Given the description of an element on the screen output the (x, y) to click on. 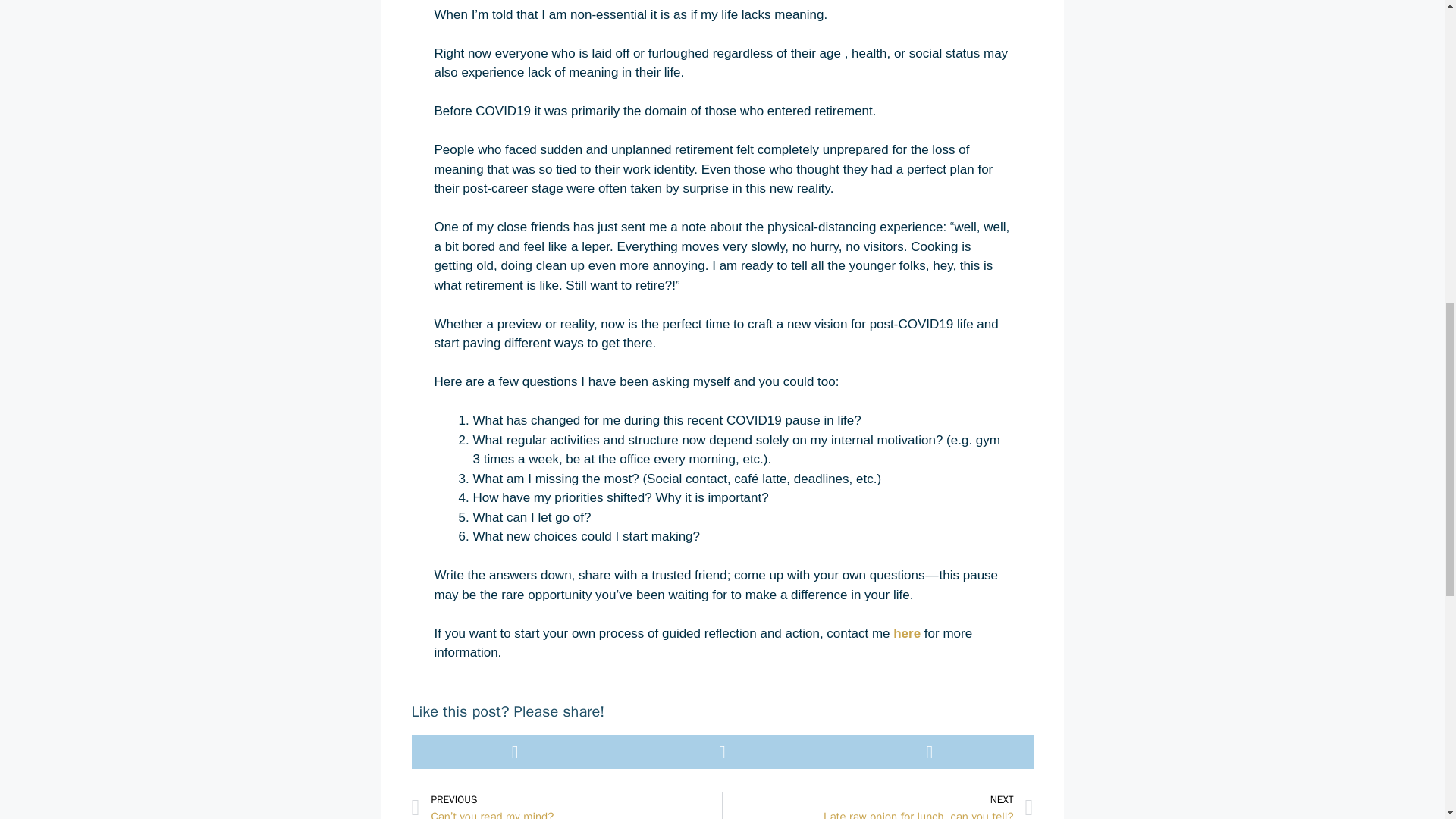
here (906, 633)
